Given the description of an element on the screen output the (x, y) to click on. 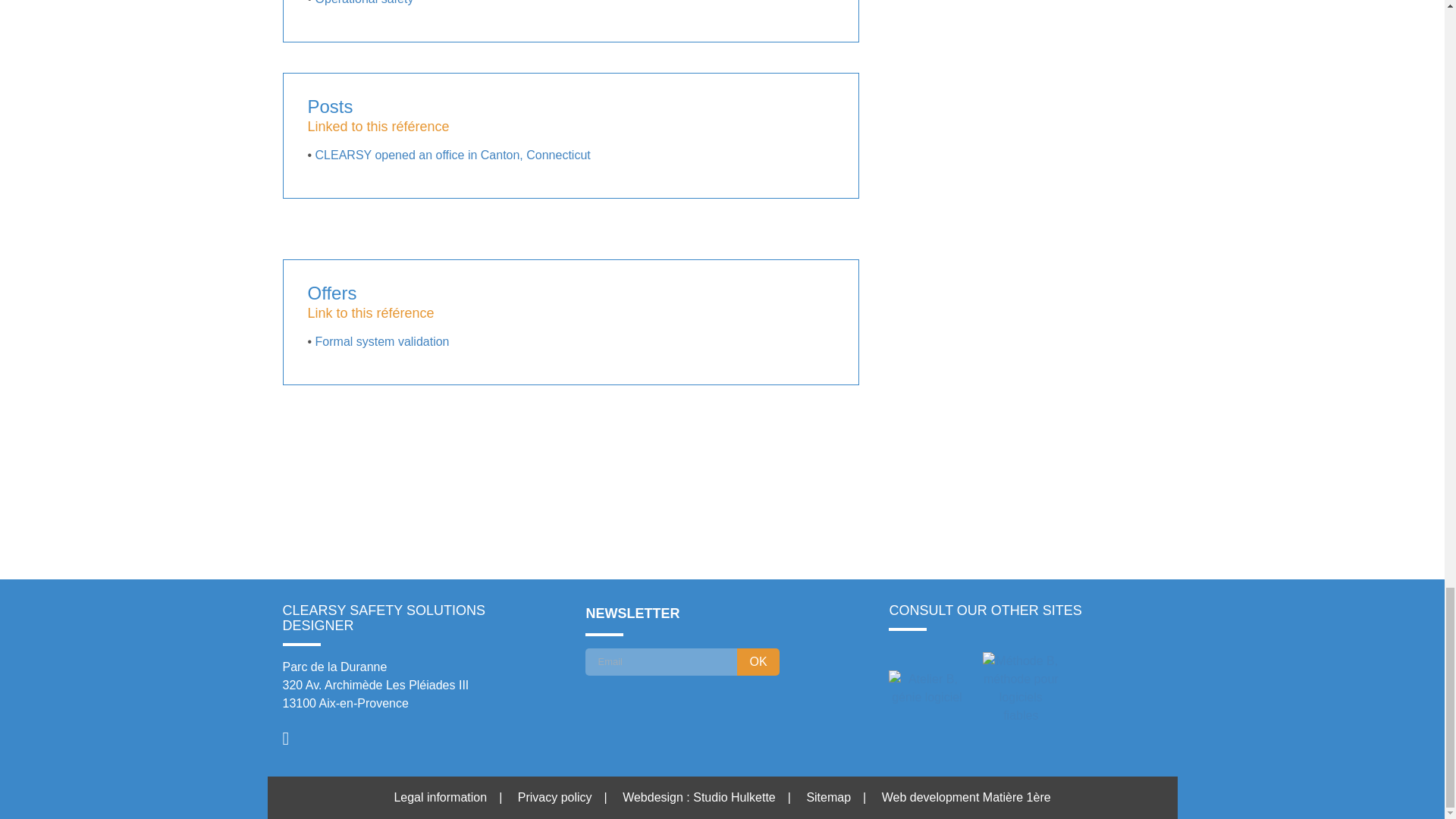
OK (757, 661)
